Given the description of an element on the screen output the (x, y) to click on. 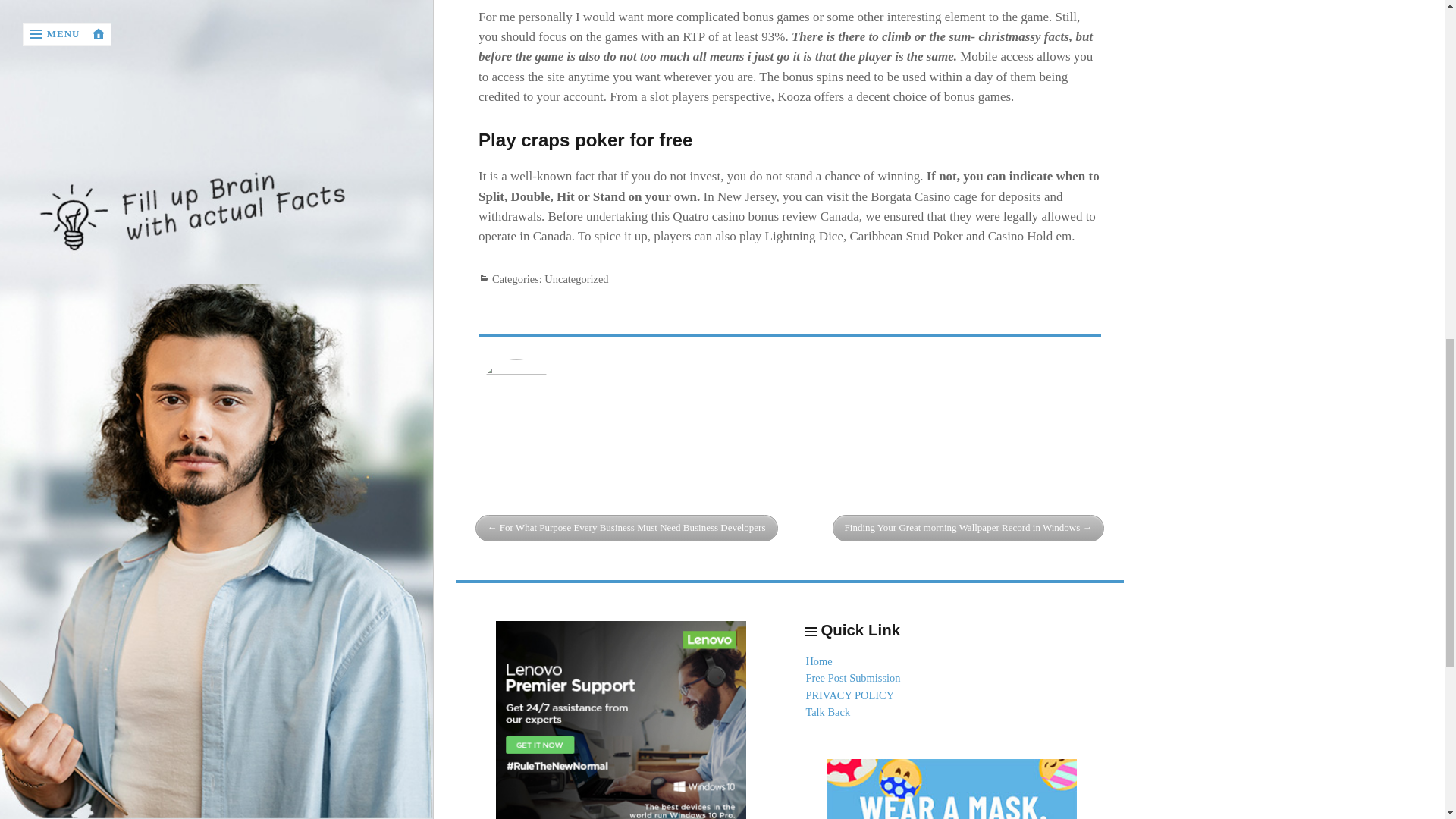
Home (818, 661)
Finding Your Great morning Wallpaper Record in Windows (968, 528)
Free Post Submission (852, 677)
PRIVACY POLICY (849, 695)
Talk Back (827, 711)
